Given the description of an element on the screen output the (x, y) to click on. 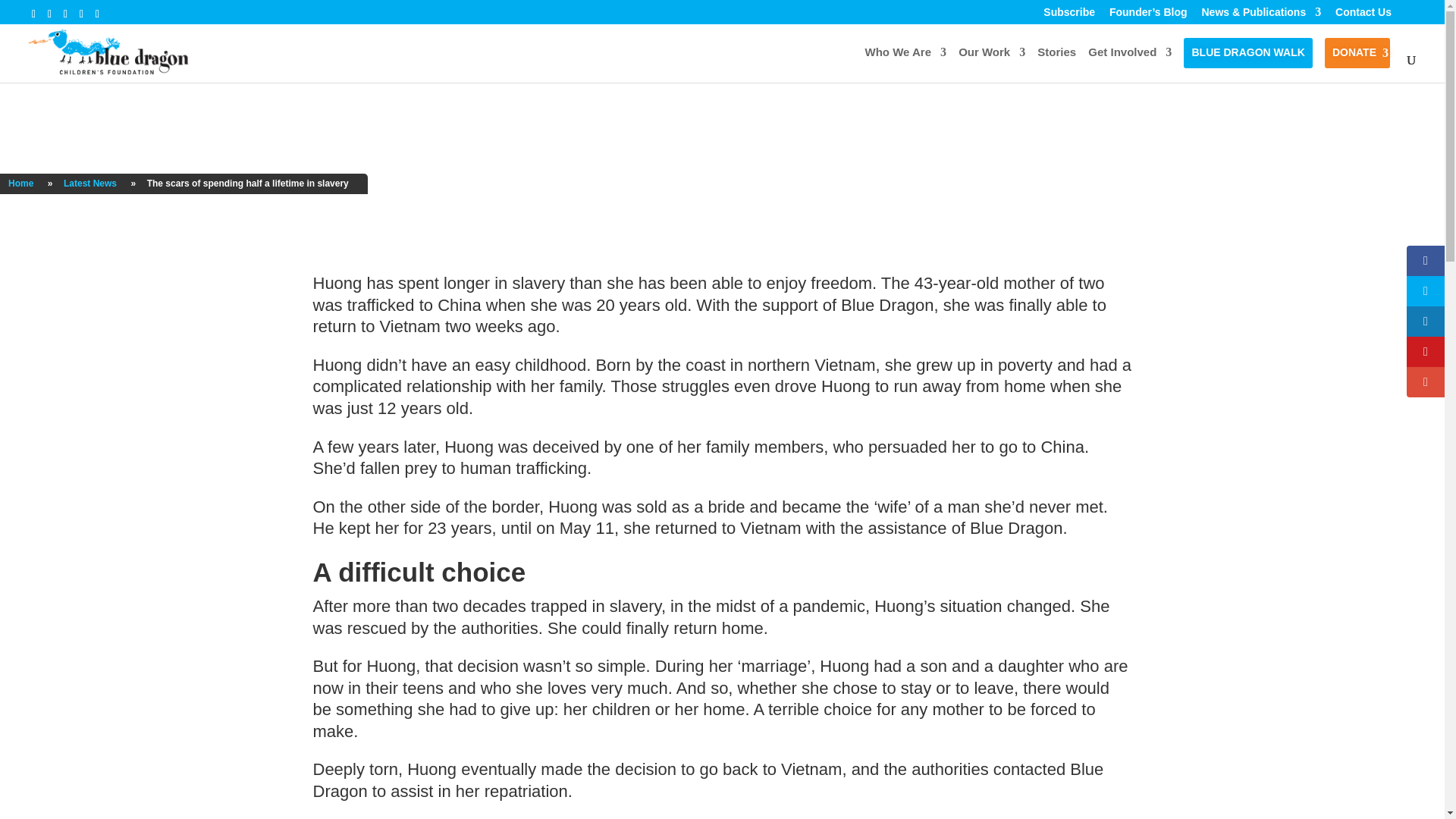
Our Work (991, 63)
Stories (1055, 63)
Home (20, 183)
Get Involved (1129, 63)
Latest News (89, 183)
Subscribe (1068, 12)
Contact Us (1363, 12)
The scars of spending half a lifetime in slavery (247, 183)
Who We Are (905, 63)
